Given the description of an element on the screen output the (x, y) to click on. 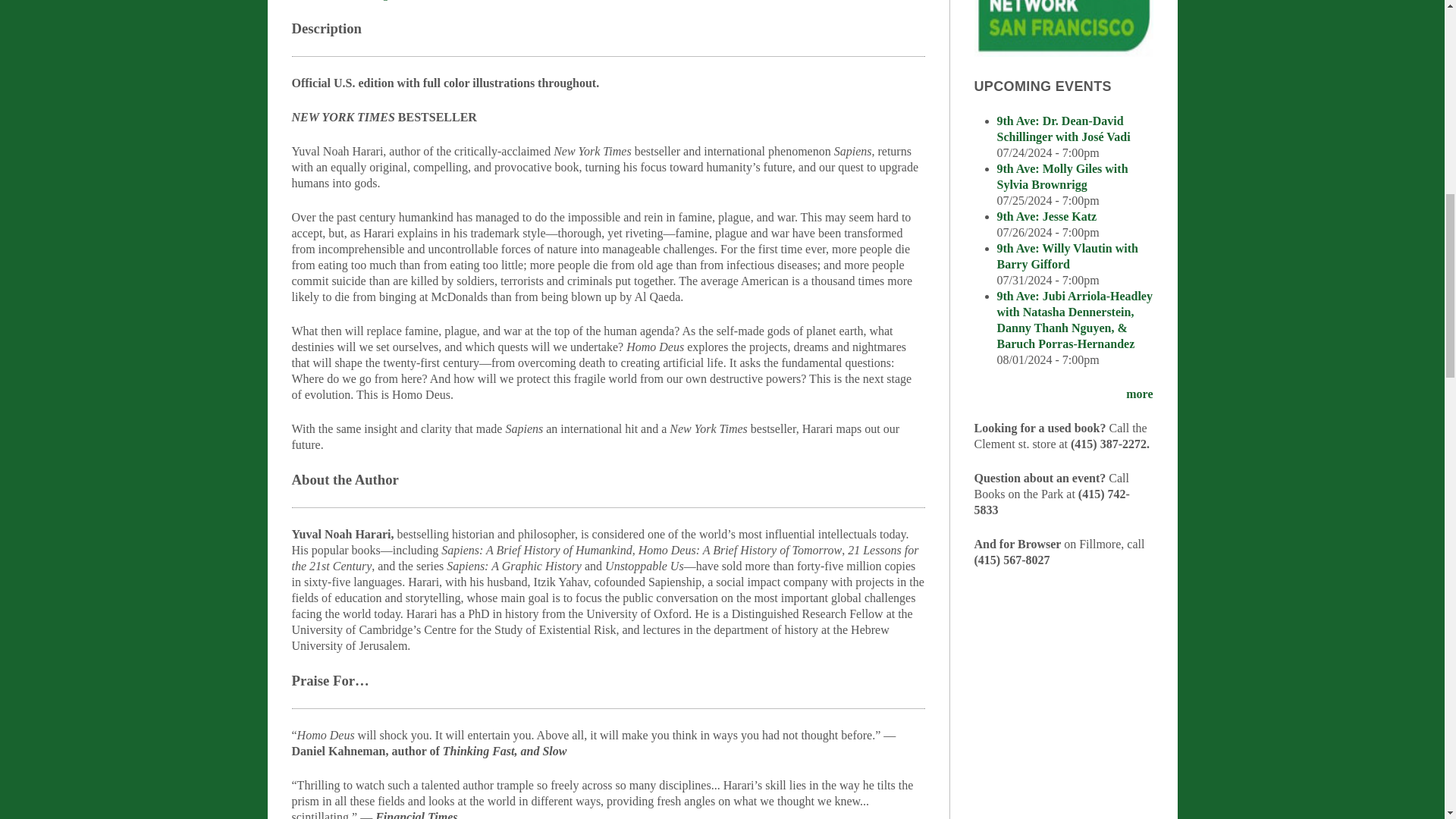
Get the Digital Audiobook (396, 0)
